Given the description of an element on the screen output the (x, y) to click on. 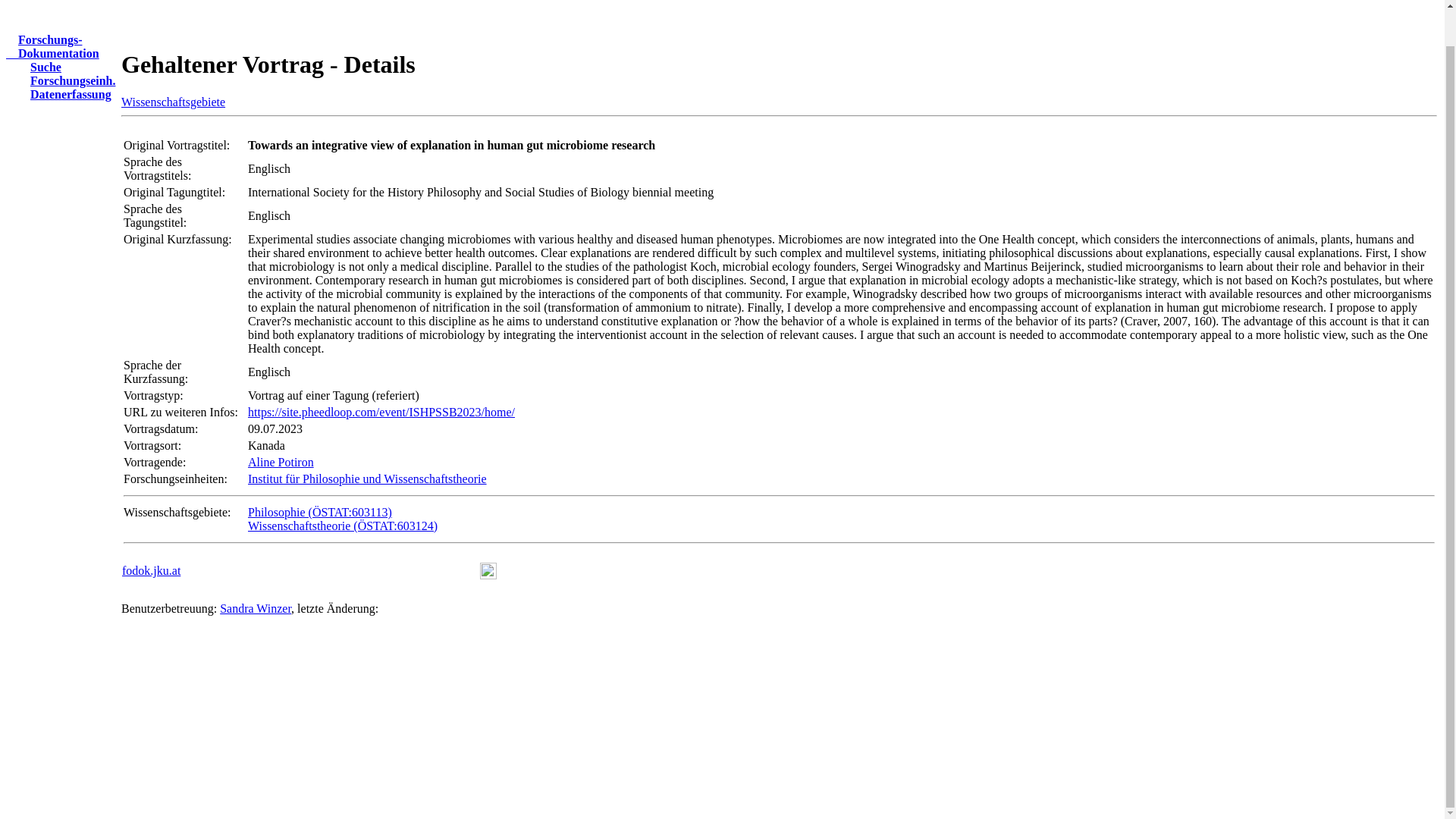
Forschungseinh. (66, 80)
Datenerfassung (64, 93)
Suche (39, 66)
Wissenschaftsgebiete (52, 46)
Sandra Winzer (172, 101)
fodok.jku.at (255, 608)
Aline Potiron (151, 570)
Wissenschaftsgebiete: (280, 461)
